Given the description of an element on the screen output the (x, y) to click on. 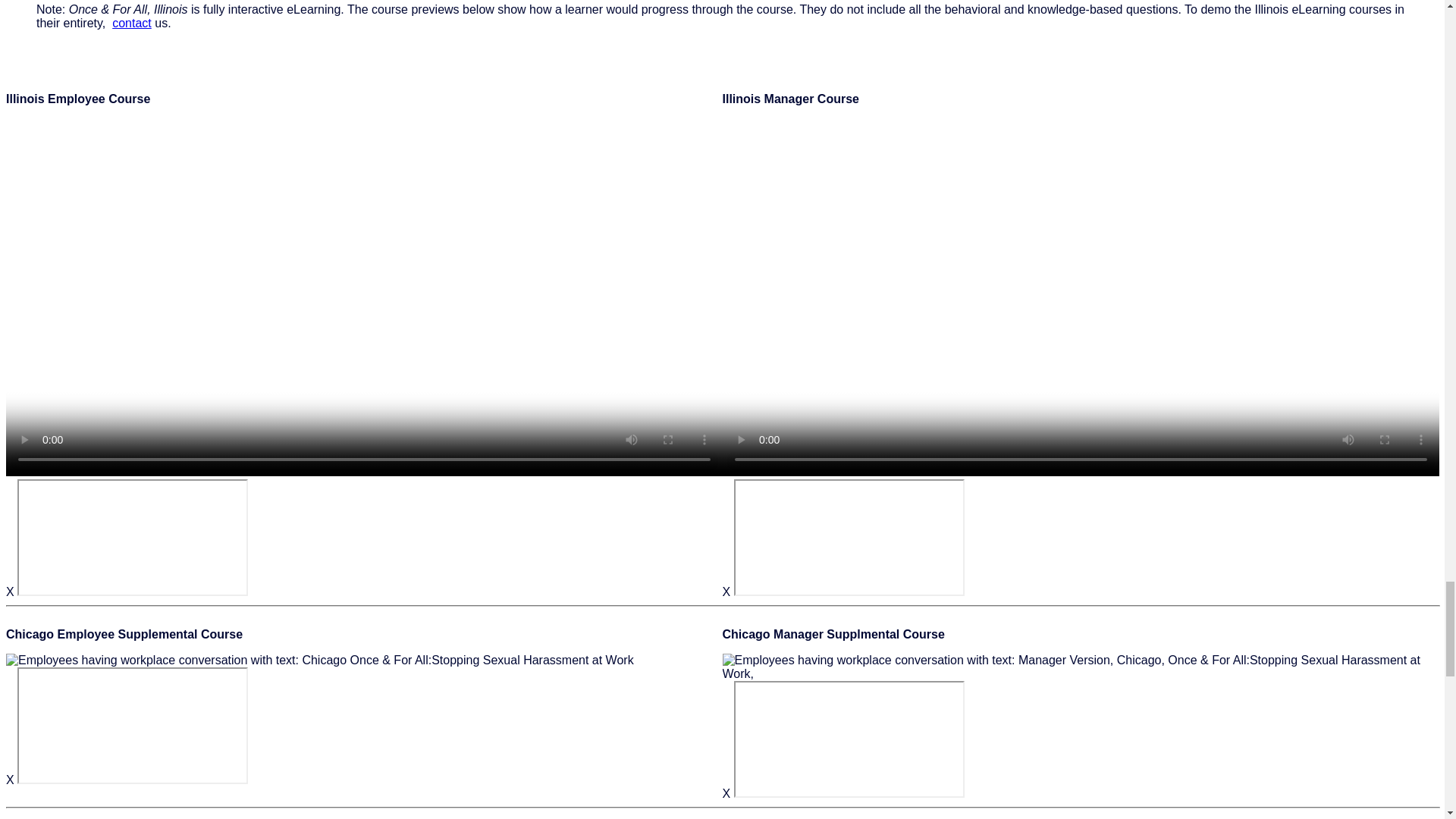
Media Partners eLearning Platform (848, 738)
Media Partners eLearning Platform (132, 537)
Media Partners eLearning Platform (848, 537)
Media Partners eLearning Platform (132, 725)
